Given the description of an element on the screen output the (x, y) to click on. 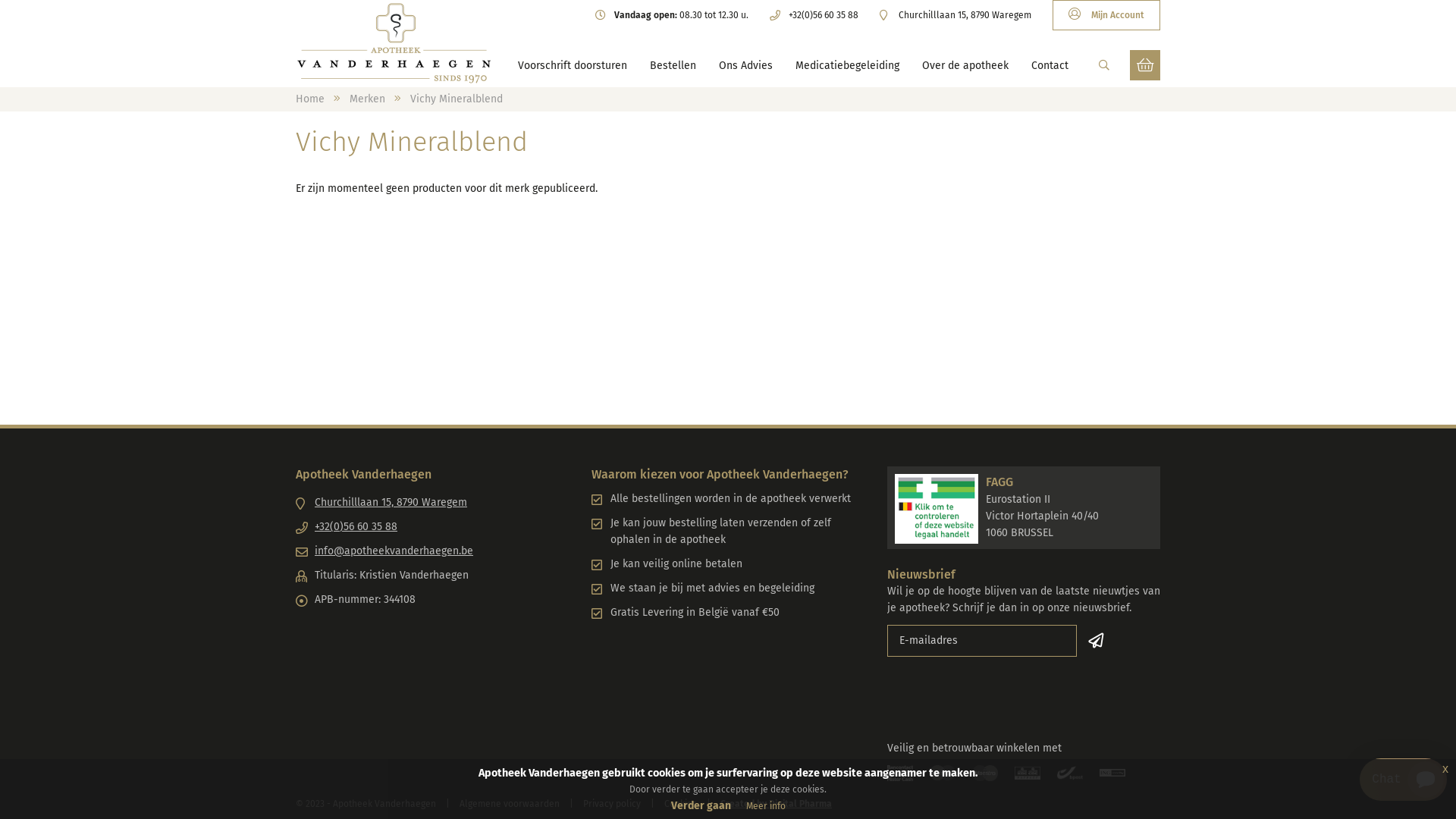
Algemene voorwaarden Element type: text (509, 803)
Churchilllaan 15, 8790 Waregem Element type: text (955, 15)
+32(0)56 60 35 88 Element type: text (813, 15)
Home Element type: text (309, 98)
Created by Digital Pharma Element type: text (775, 803)
Privacy policy Element type: text (611, 803)
zoeken Element type: text (1103, 65)
Meer info Element type: text (765, 805)
Over de apotheek Element type: text (965, 65)
Smartsupp widget button Element type: hover (1402, 779)
+32(0)56 60 35 88 Element type: text (431, 526)
Merken Element type: text (367, 98)
Churchilllaan 15, 8790 Waregem Element type: text (431, 502)
info@apotheekvanderhaegen.be Element type: text (431, 551)
Contact Element type: text (1049, 65)
Verder gaan Element type: text (700, 805)
Medicatiebegeleiding Element type: text (846, 65)
INSCHRIJVEN Element type: text (1097, 640)
Bestellen Element type: text (672, 65)
Vandaag open 08.30 tot 12.30 u. Element type: text (671, 15)
Voorschrift doorsturen Element type: text (571, 65)
Mijn Account Element type: text (1106, 15)
Ons Advies Element type: text (745, 65)
Cookies Element type: text (680, 803)
